Given the description of an element on the screen output the (x, y) to click on. 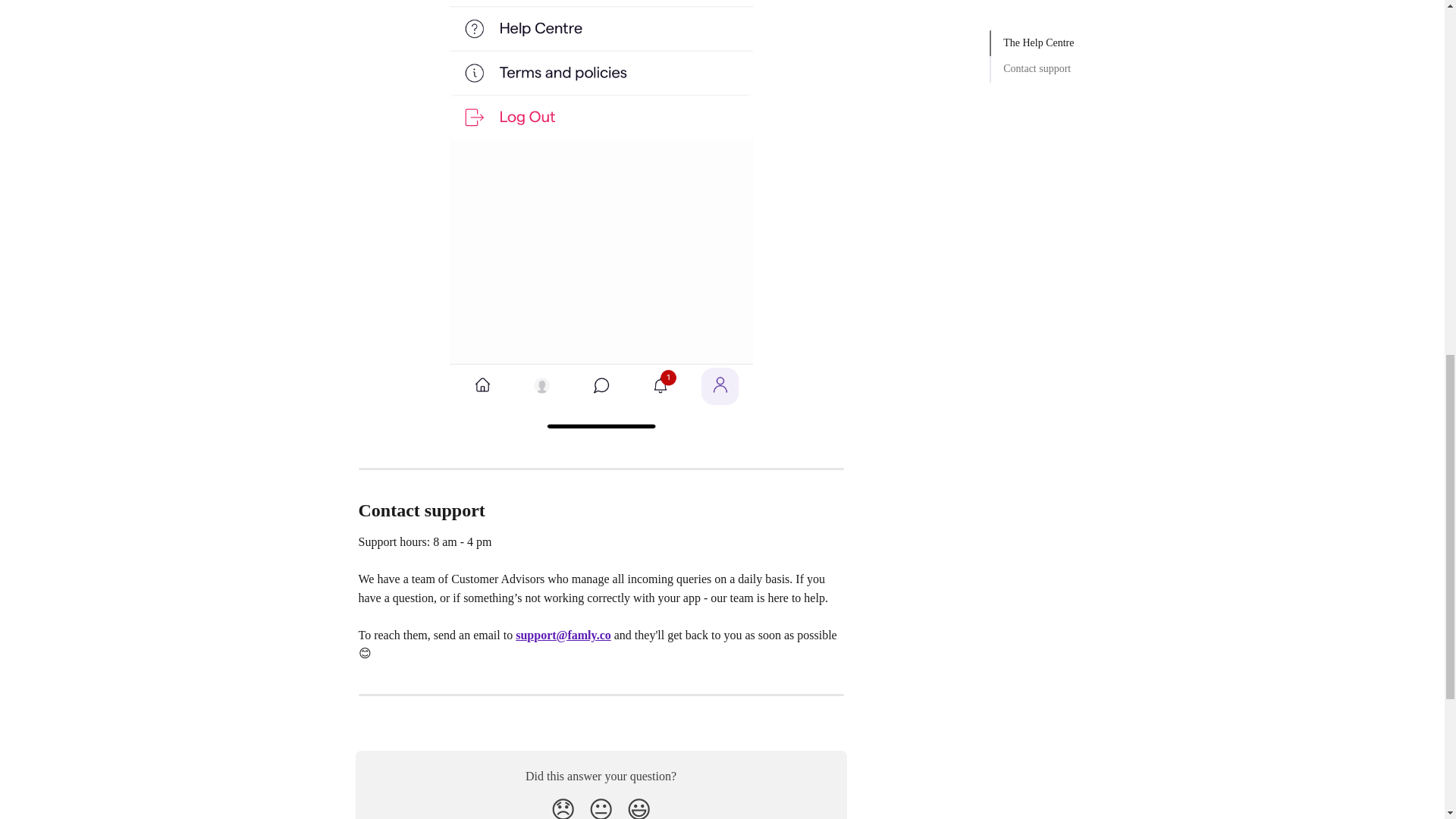
Disappointed (562, 807)
Smiley (638, 807)
Neutral (600, 807)
